Given the description of an element on the screen output the (x, y) to click on. 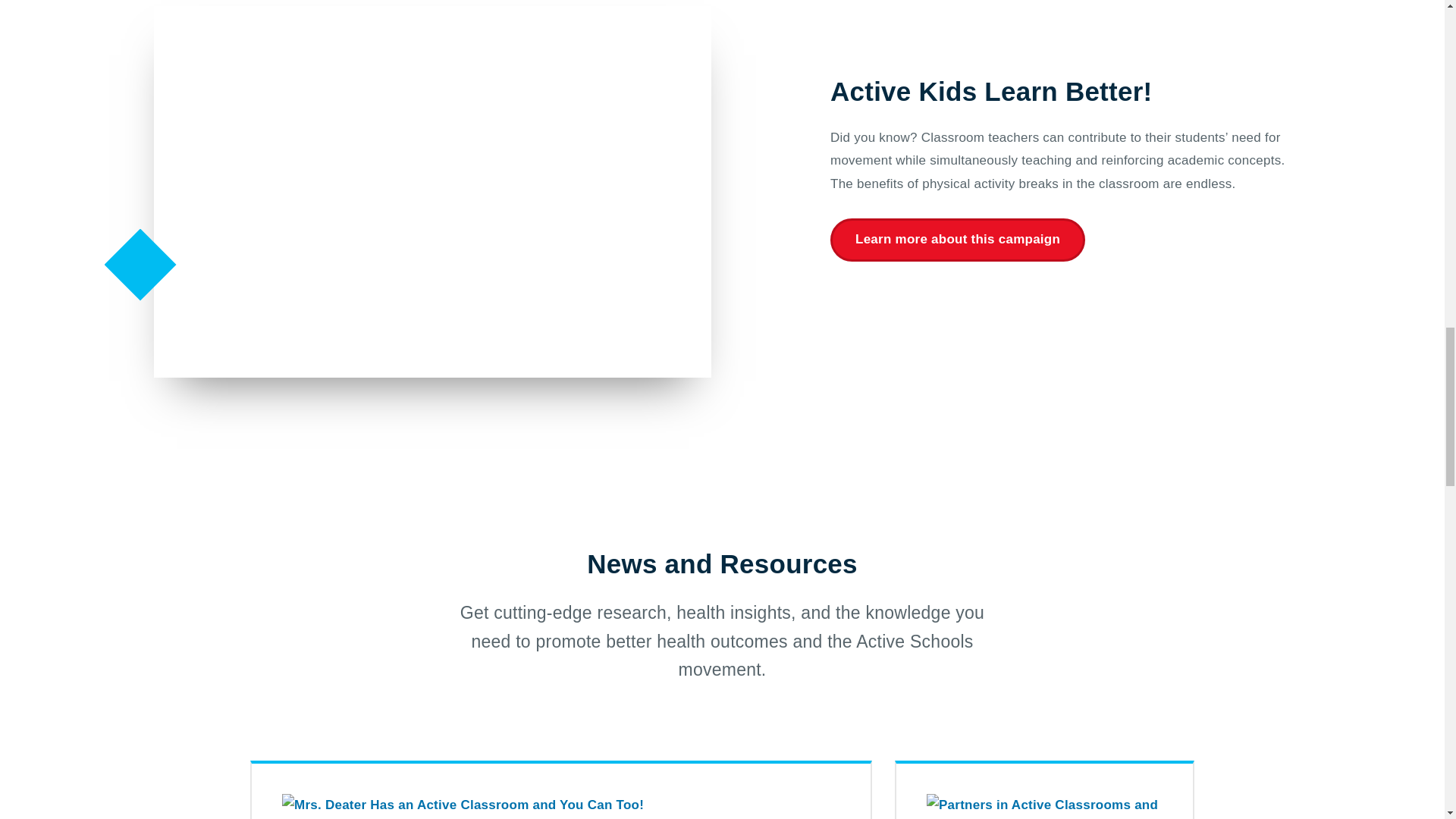
Learn more about this campaign (1044, 789)
